Given the description of an element on the screen output the (x, y) to click on. 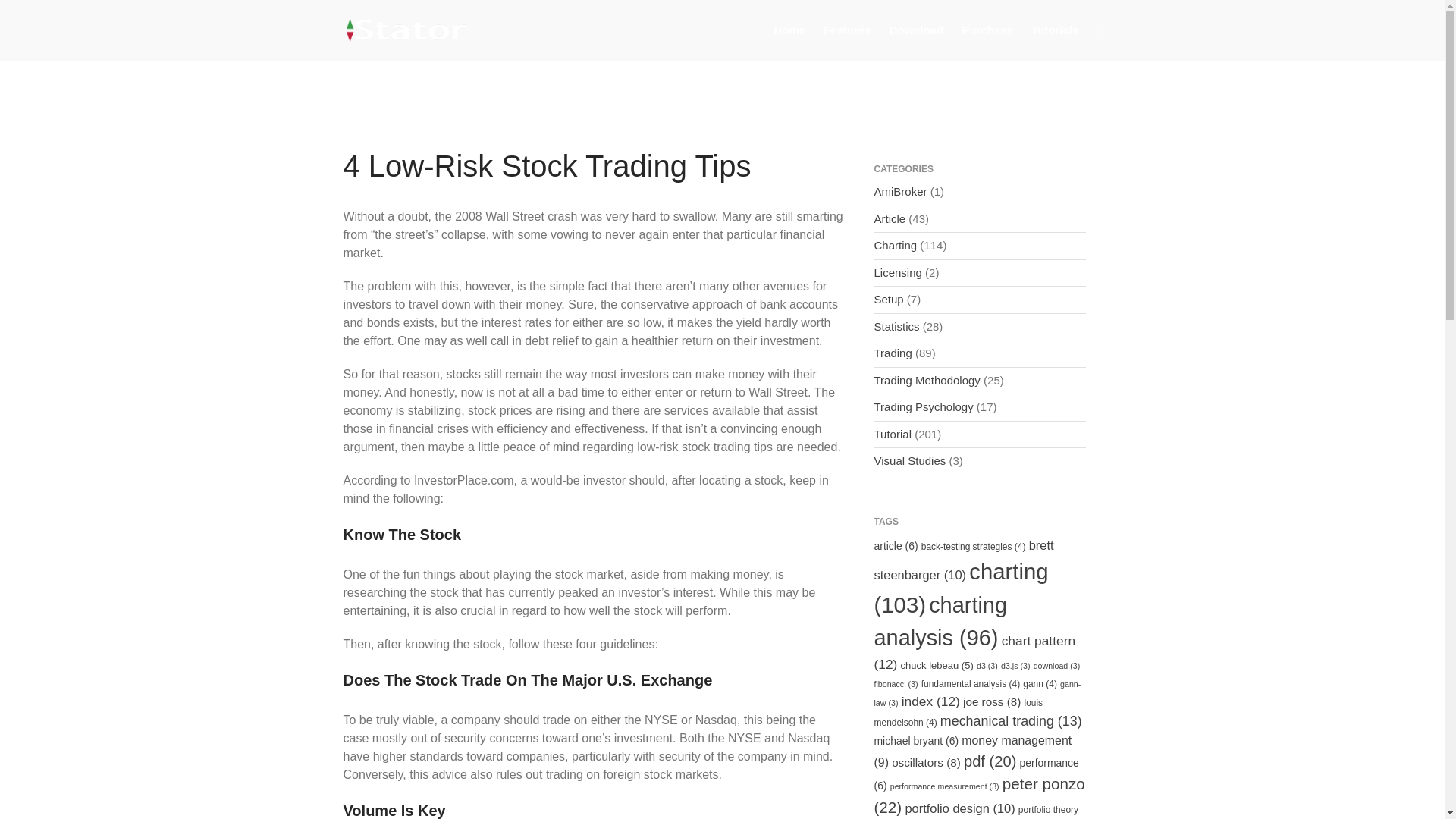
Setup (887, 298)
Search (1356, 222)
Trading (892, 352)
Statistics (895, 326)
Features (847, 29)
Licensing (897, 272)
Purchase (986, 29)
Home (788, 29)
Tutorial (892, 433)
AmiBroker (899, 191)
Tutorials (1054, 29)
Trading Psychology (922, 406)
Article (889, 218)
Visual Studies (908, 460)
Stator AFM (516, 39)
